Given the description of an element on the screen output the (x, y) to click on. 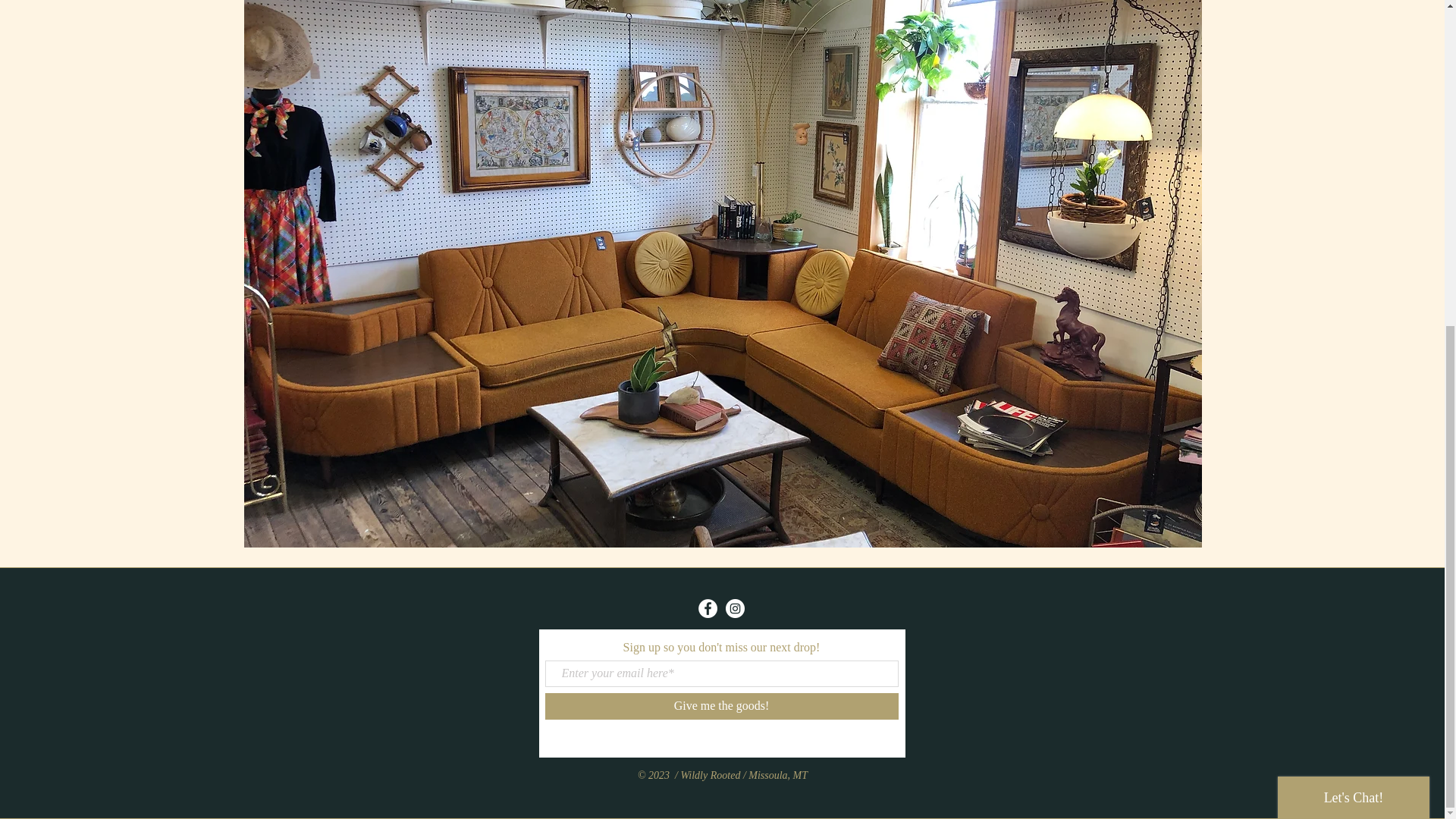
Give me the goods! (721, 705)
